Given the description of an element on the screen output the (x, y) to click on. 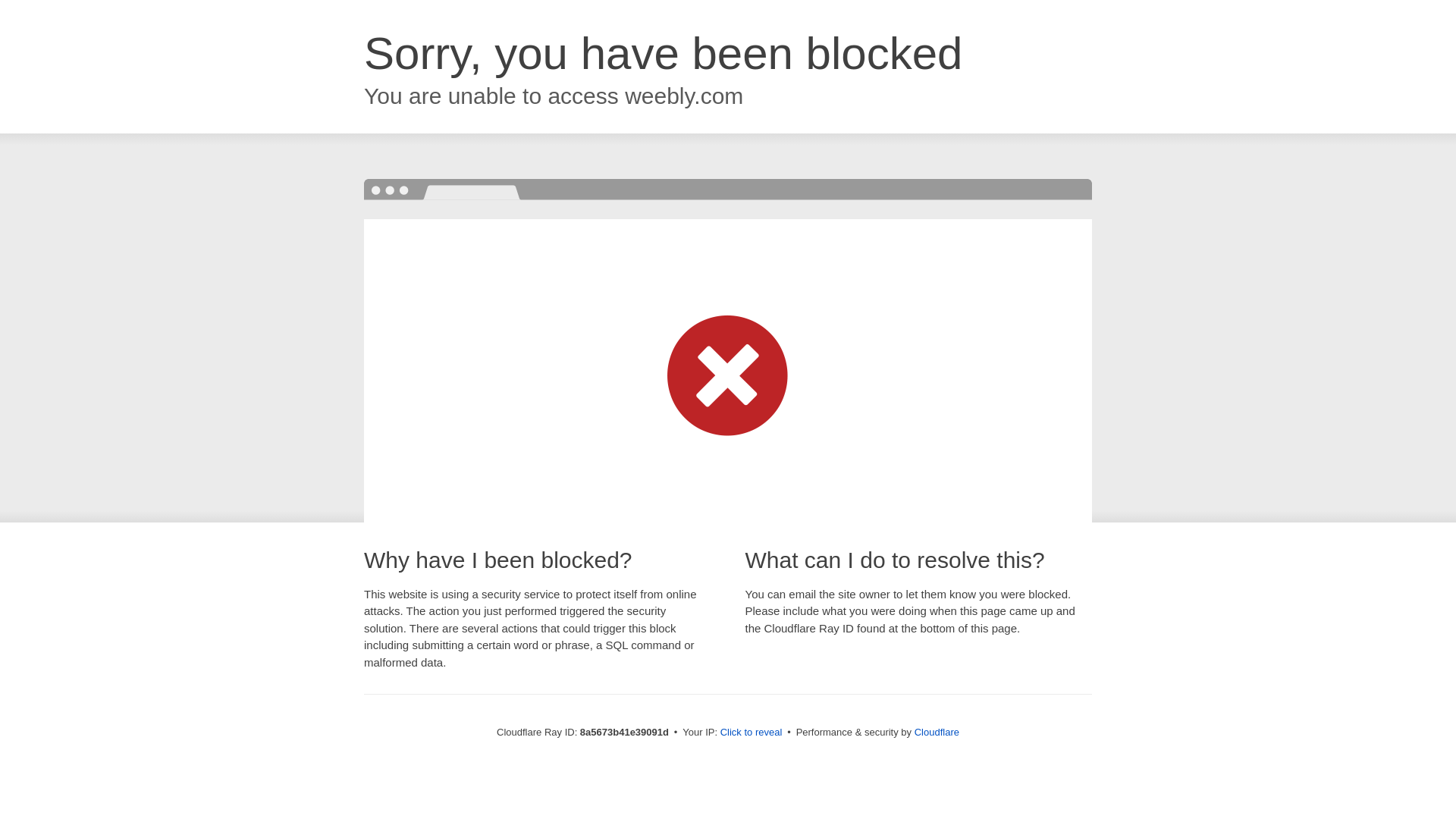
Click to reveal (751, 732)
Cloudflare (936, 731)
